Given the description of an element on the screen output the (x, y) to click on. 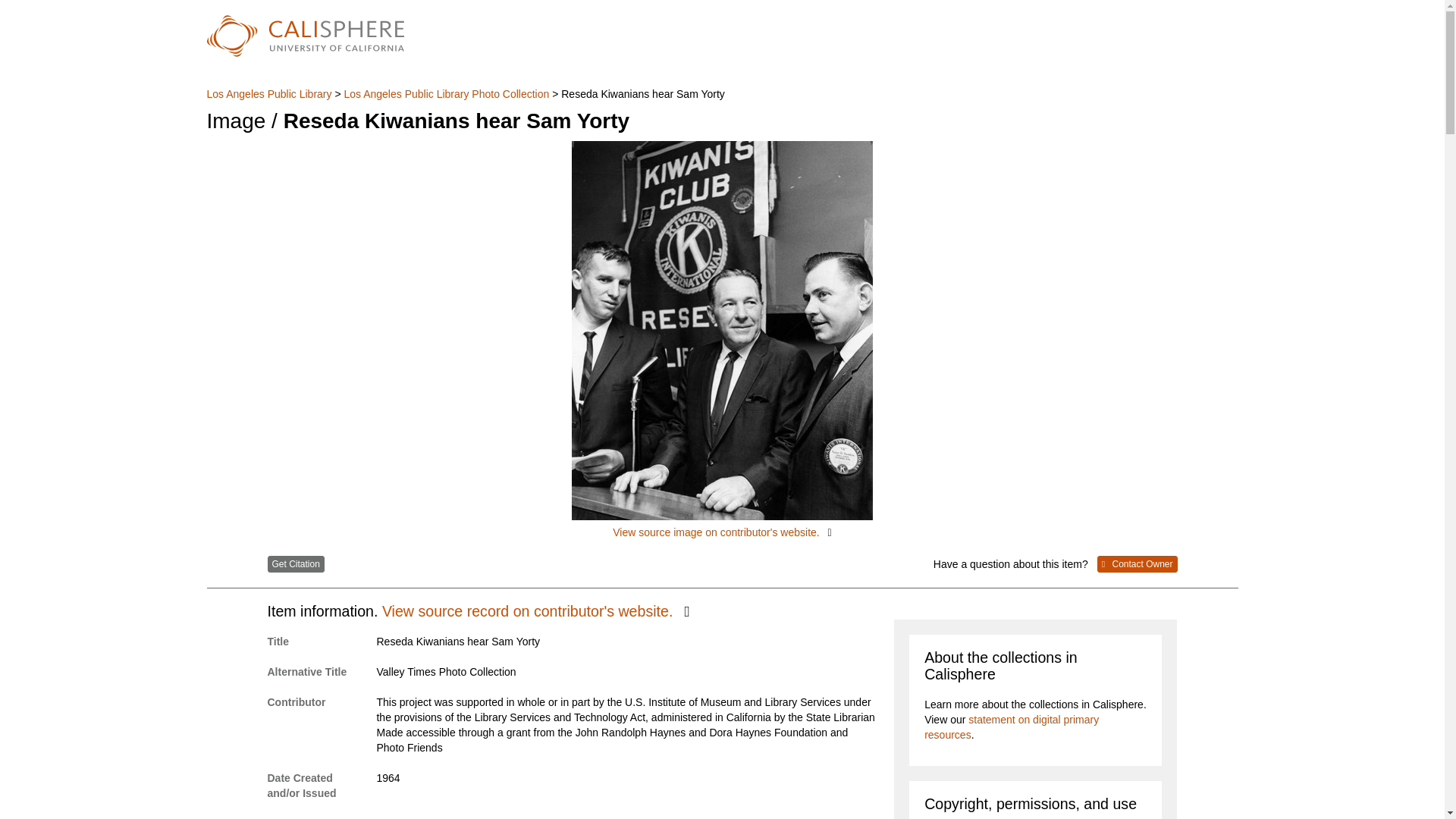
View source record on contributor's website. (535, 610)
View source image on contributor's website. (722, 340)
Los Angeles Public Library Photo Collection (445, 93)
Los Angeles Public Library (270, 93)
Los Angeles Public Library (443, 818)
statement on digital primary resources (1011, 727)
Contact Owner (1137, 564)
Get Citation (294, 564)
